Given the description of an element on the screen output the (x, y) to click on. 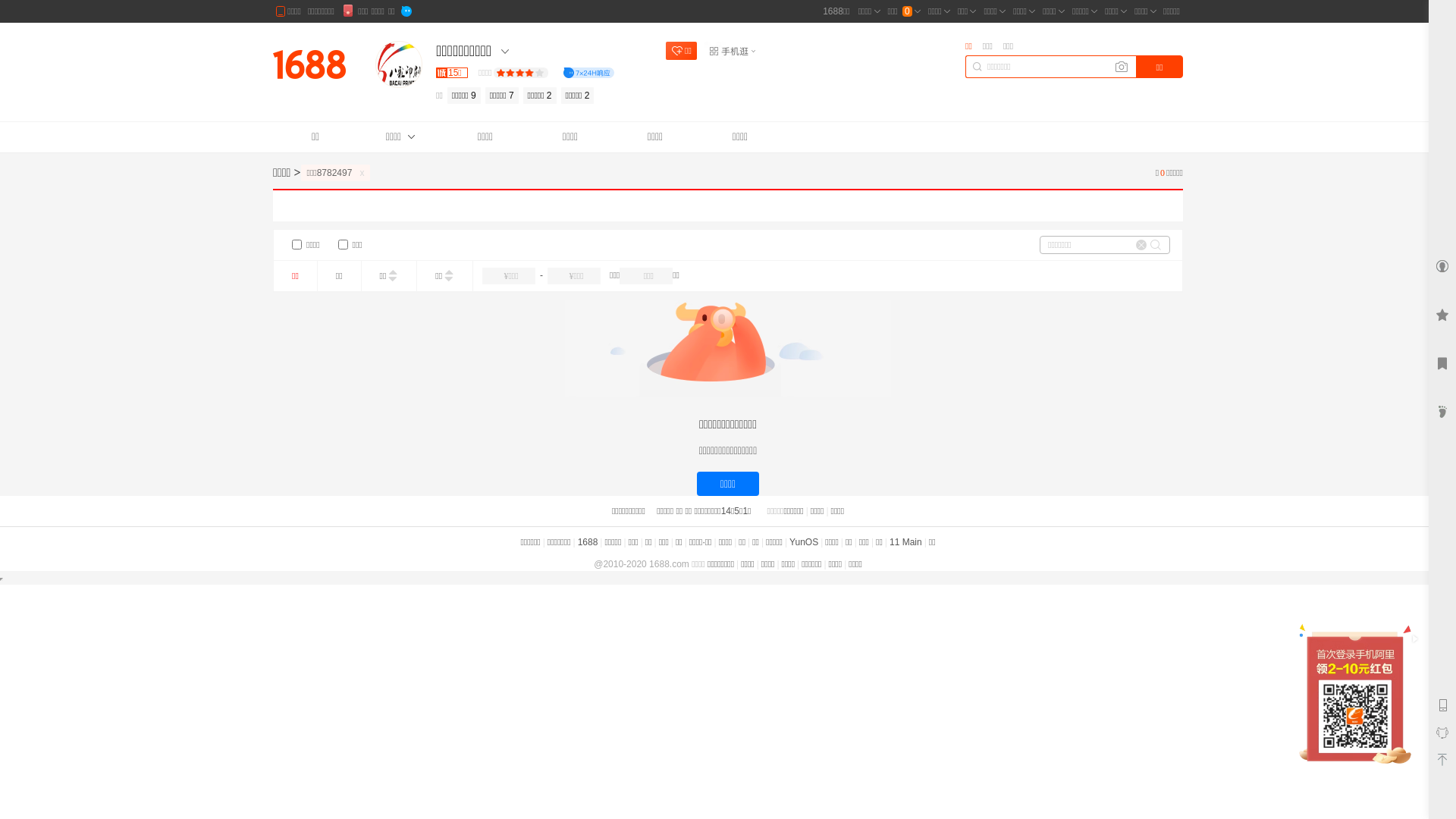
11 Main Element type: text (905, 541)
1688 Element type: text (587, 541)
YunOS Element type: text (803, 541)
